Given the description of an element on the screen output the (x, y) to click on. 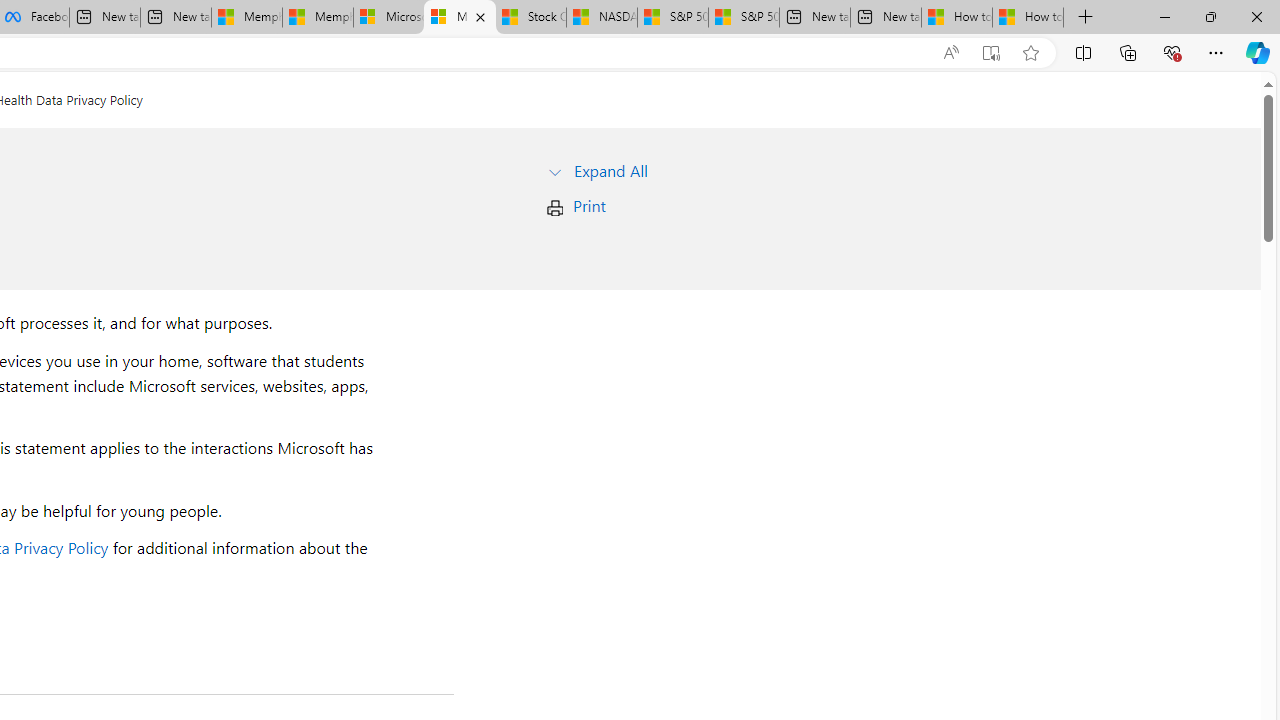
Expand All (610, 170)
Enter Immersive Reader (F9) (991, 53)
How to Use a Monitor With Your Closed Laptop (1028, 17)
S&P 500, Nasdaq end lower, weighed by Nvidia dip | Watch (744, 17)
